Given the description of an element on the screen output the (x, y) to click on. 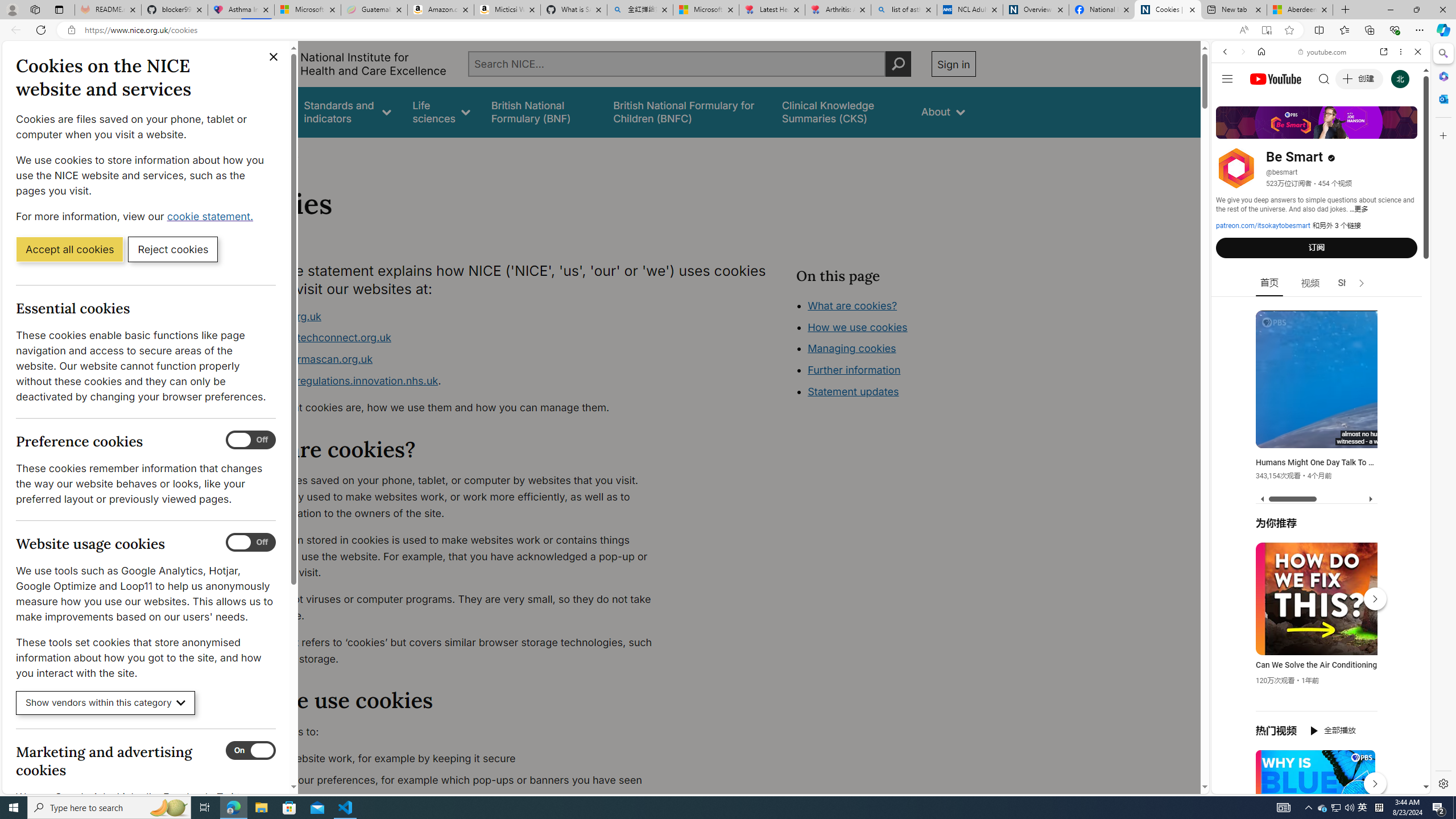
Home> (246, 152)
cookie statement. (Opens in a new window) (211, 215)
Sign in (952, 63)
www.nice.org.uk (279, 315)
This site scope (1259, 102)
